Given the description of an element on the screen output the (x, y) to click on. 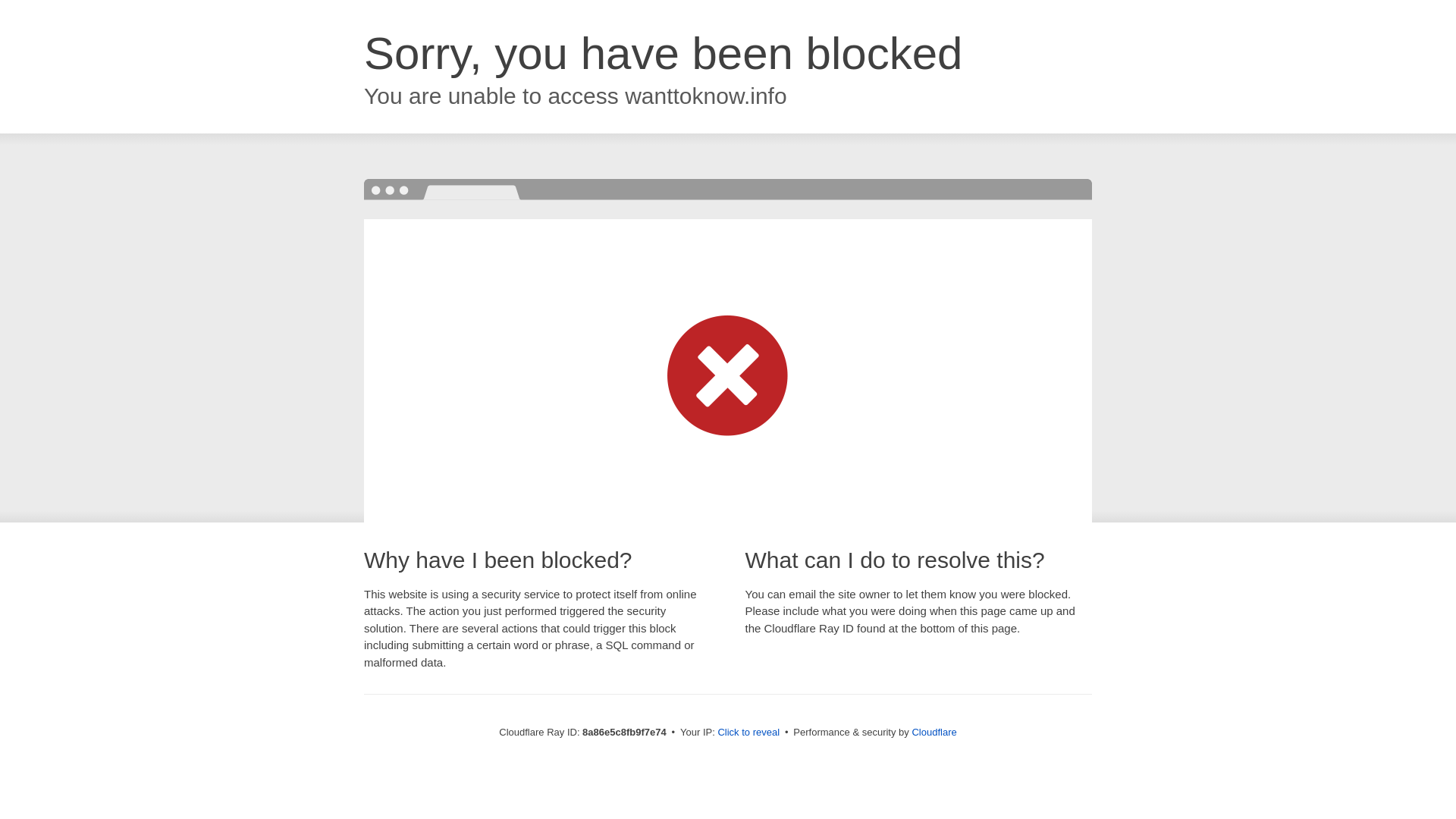
Cloudflare (933, 731)
Click to reveal (747, 732)
